Given the description of an element on the screen output the (x, y) to click on. 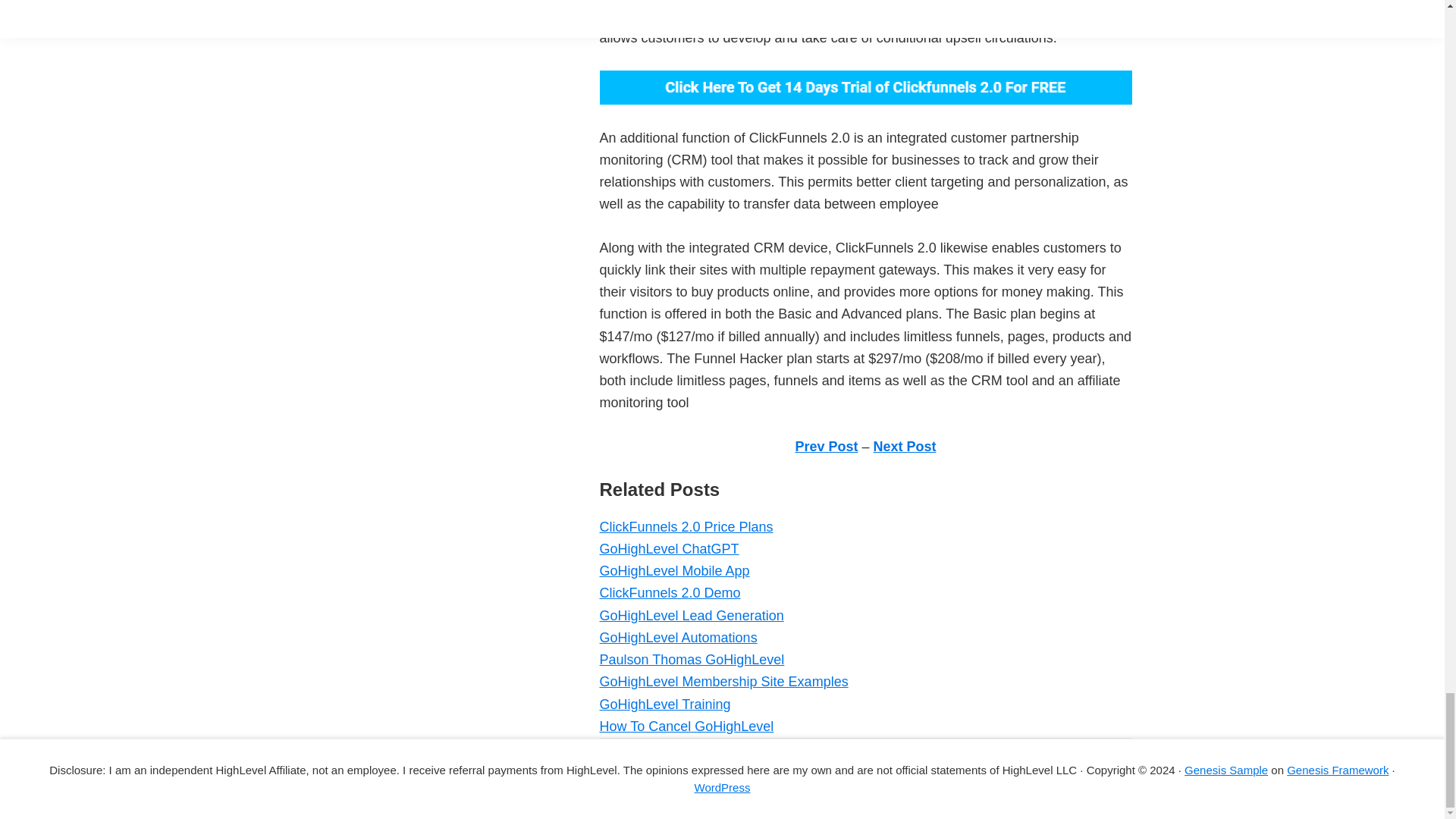
GoHighLevel Lead Generation (690, 615)
GoHighLevel Membership Site Examples (722, 681)
GoHighLevel Automations (677, 637)
Next Post (904, 446)
ClickFunnels 2.0 Demo (668, 592)
GoHighLevel ChatGPT (668, 548)
GoHighLevel Automations (677, 637)
Paulson Thomas GoHighLevel (691, 659)
GoHighLevel Membership Site Examples (722, 681)
GoHighLevel Mobile App (673, 570)
